Given the description of an element on the screen output the (x, y) to click on. 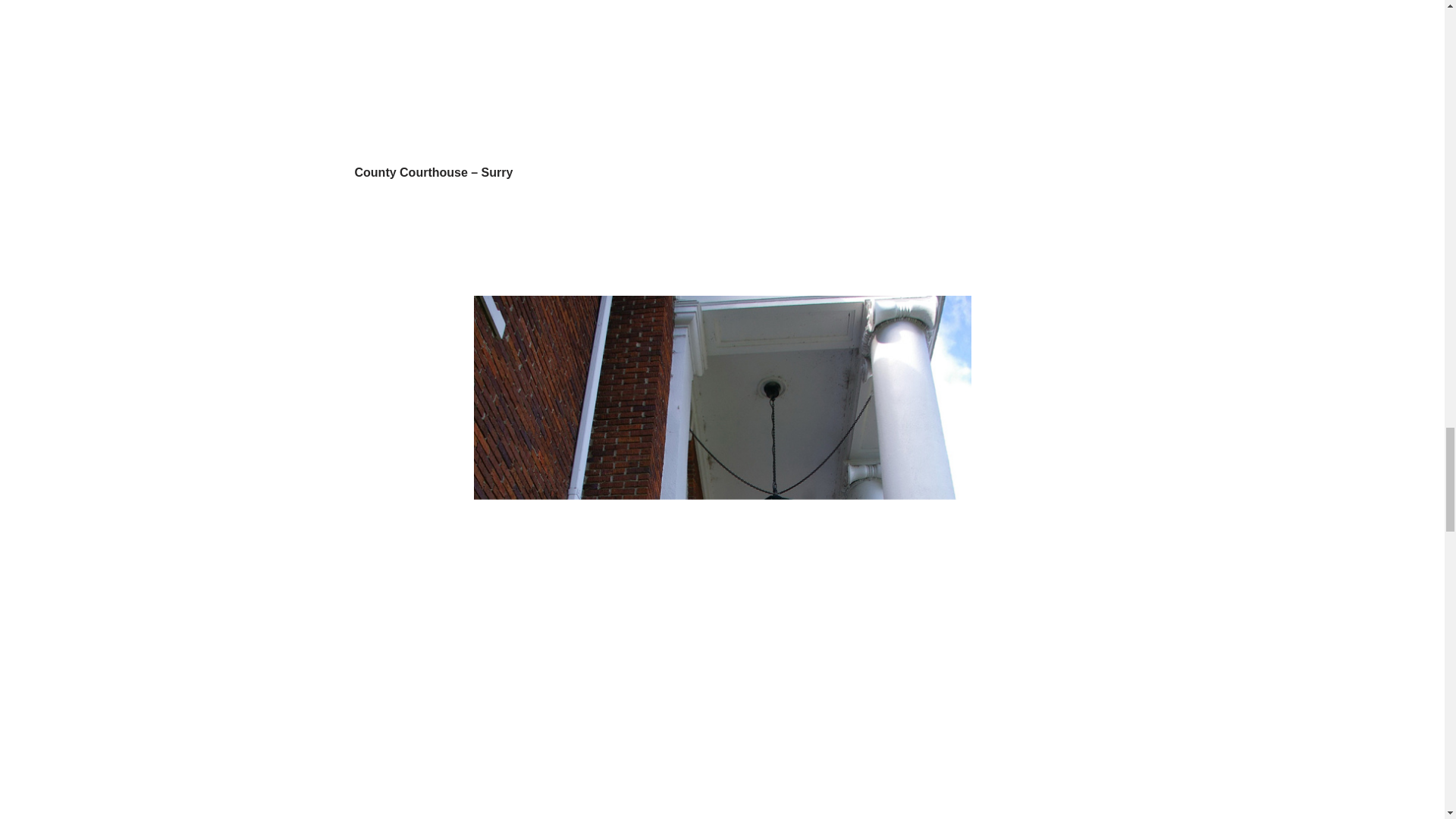
1767vm13 (722, 74)
